Given the description of an element on the screen output the (x, y) to click on. 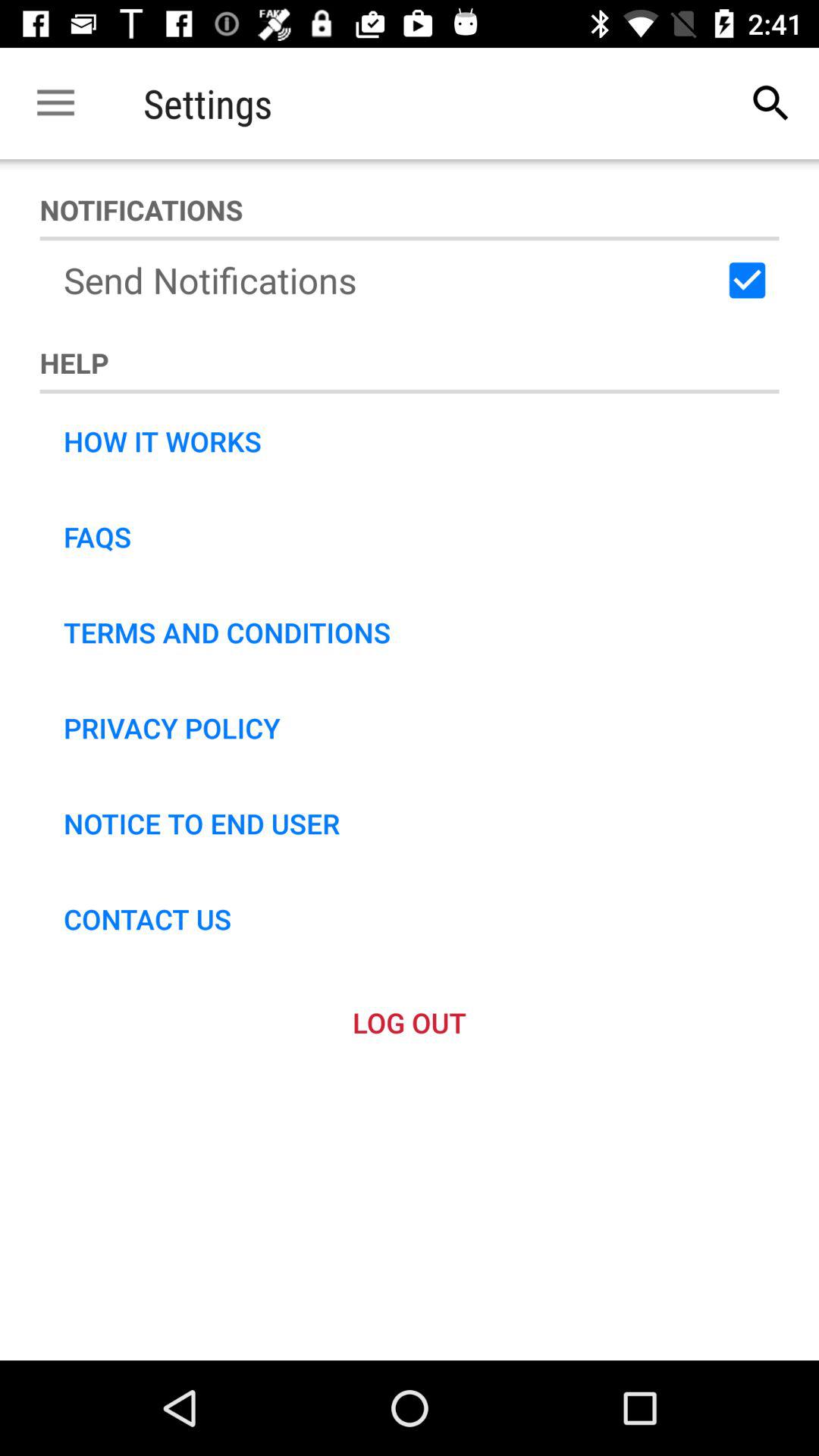
swipe until the terms and conditions (226, 632)
